Given the description of an element on the screen output the (x, y) to click on. 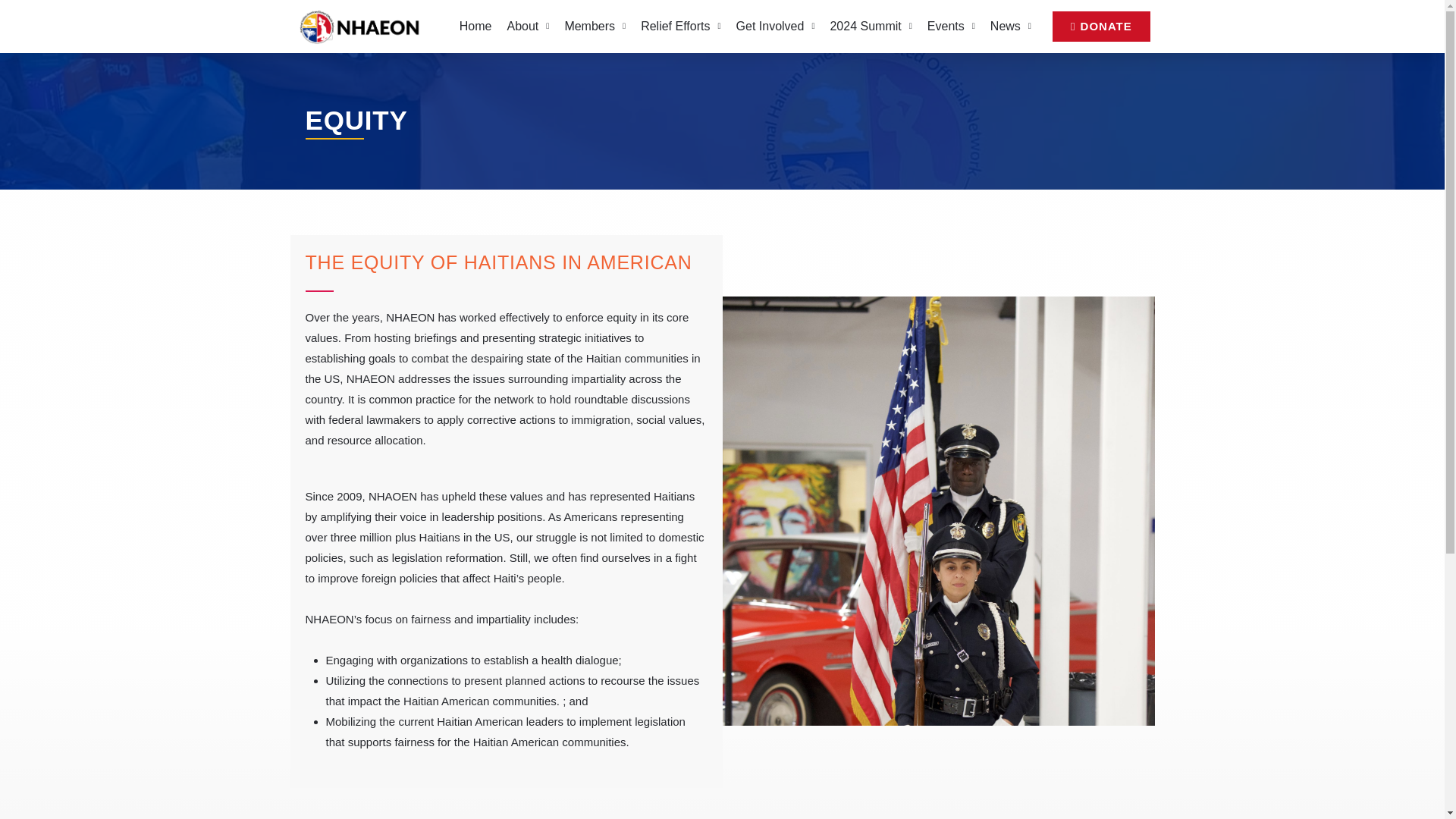
About (527, 26)
Home (475, 26)
Members (594, 26)
